Given the description of an element on the screen output the (x, y) to click on. 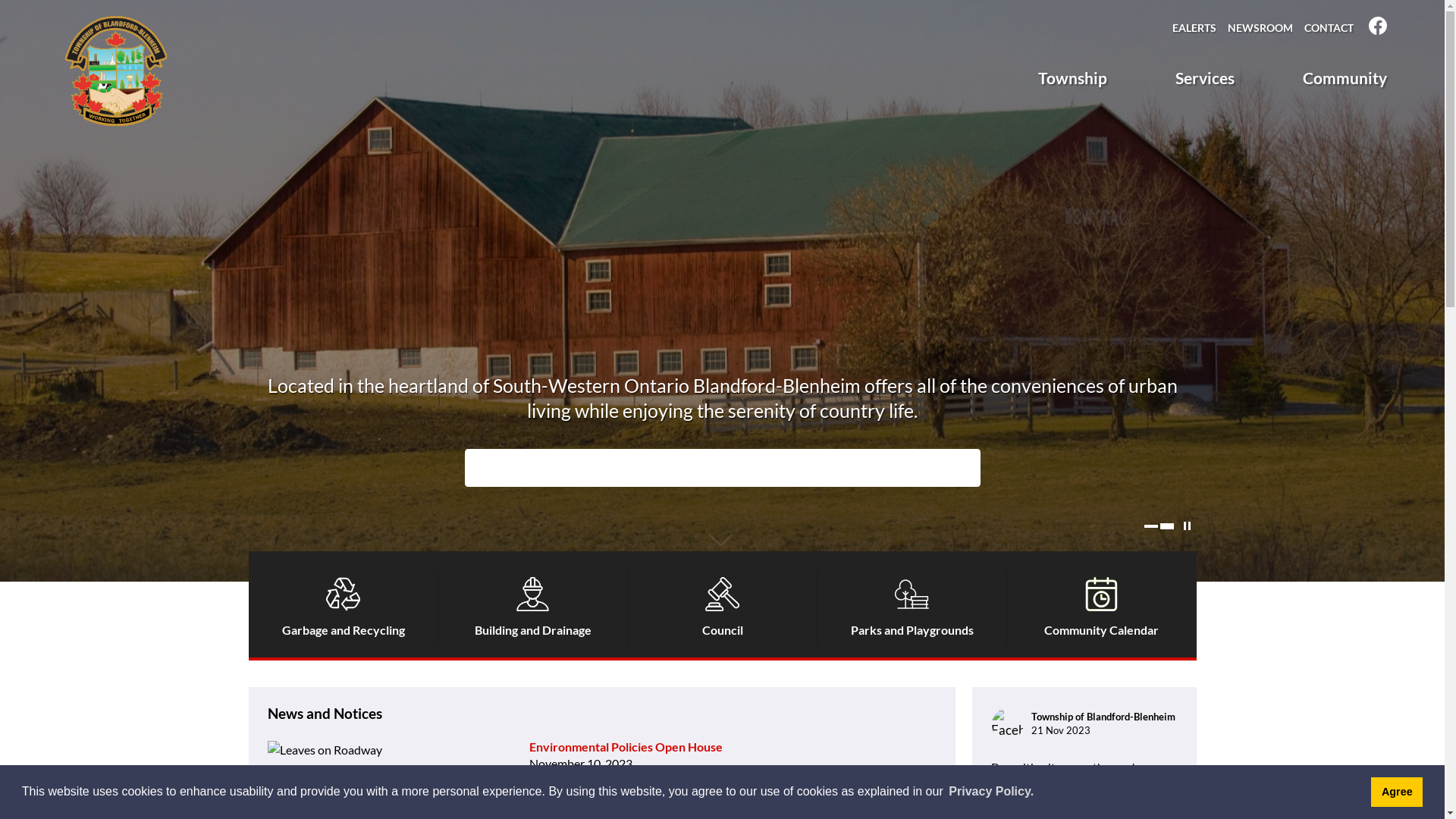
Services Element type: text (1204, 79)
Community Element type: text (1344, 79)
Click to return to the homepage Element type: hover (115, 71)
Township Element type: text (1080, 79)
Skip to Content Element type: text (0, 0)
Parks and Playgrounds Element type: text (912, 604)
Environmental Policies Open House Element type: text (625, 746)
Privacy Policy. Element type: text (990, 791)
Scroll Down Element type: hover (719, 540)
Garbage and Recycling Element type: text (343, 604)
View our Facebook Page Element type: hover (1377, 30)
NEWSROOM Element type: text (1259, 27)
About Blandford-Blenheim Element type: hover (722, 290)
Play / Pause Banner Element type: text (1185, 525)
CONTACT Element type: text (1328, 27)
Building and Drainage Element type: text (532, 604)
Community Calendar Element type: text (1101, 604)
Leaves on Roadways Element type: text (322, 777)
EALERTS Element type: text (1194, 27)
Agree Element type: text (1396, 791)
Princeton Project Update Element type: text (598, 796)
Council Element type: text (722, 604)
